Given the description of an element on the screen output the (x, y) to click on. 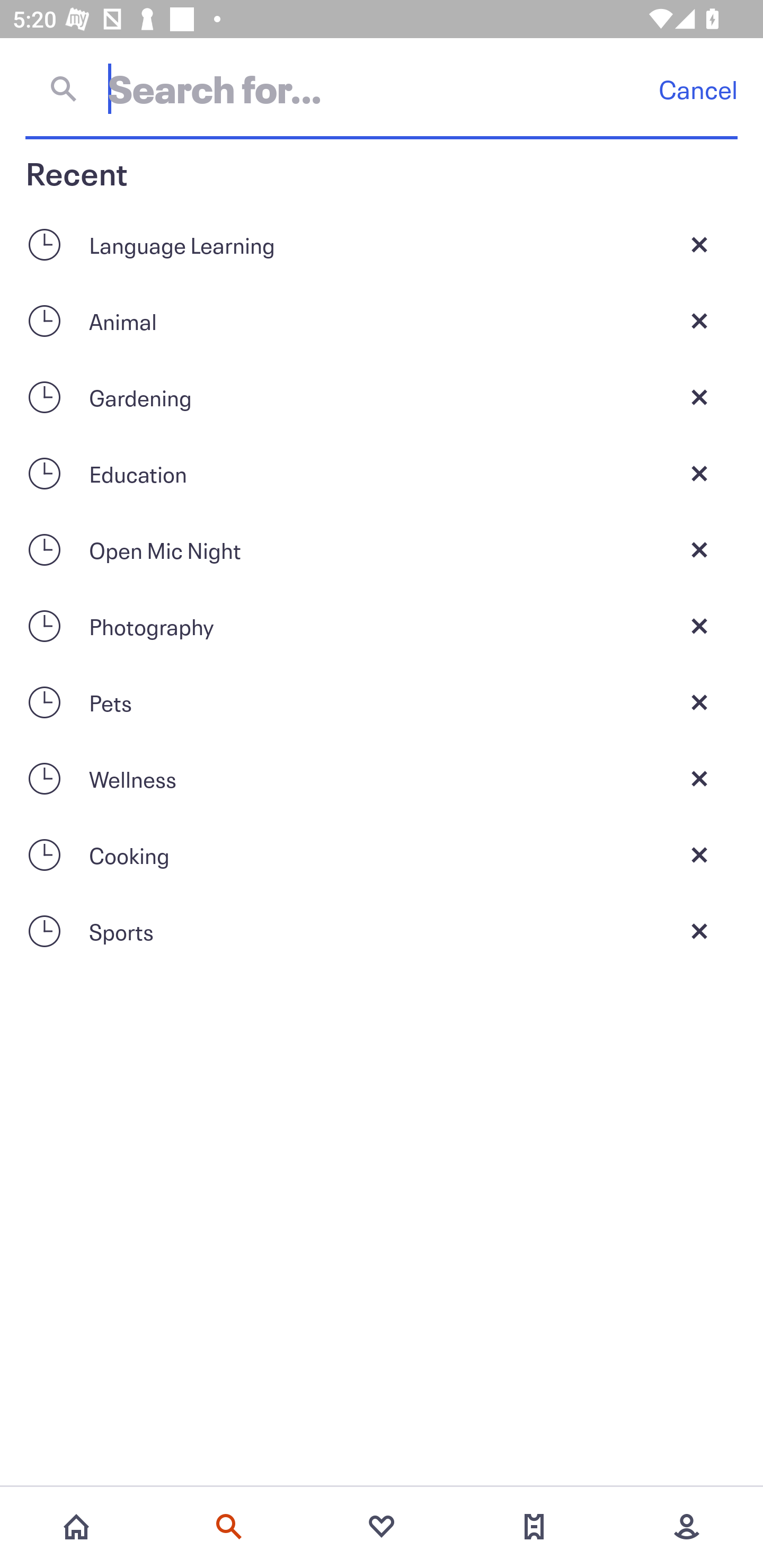
Cancel Search for… (381, 88)
Cancel (697, 89)
Language Learning Close current screen (381, 244)
Close current screen (699, 244)
Animal Close current screen (381, 320)
Close current screen (699, 320)
Gardening Close current screen (381, 397)
Close current screen (699, 397)
Education Close current screen (381, 473)
Close current screen (699, 473)
Open Mic Night Close current screen (381, 549)
Close current screen (699, 549)
Photography Close current screen (381, 626)
Close current screen (699, 626)
Pets Close current screen (381, 702)
Close current screen (699, 702)
Wellness Close current screen (381, 778)
Close current screen (699, 778)
Cooking Close current screen (381, 854)
Close current screen (699, 854)
Sports Close current screen (381, 931)
Close current screen (699, 931)
Home (76, 1526)
Search events (228, 1526)
Favorites (381, 1526)
Tickets (533, 1526)
More (686, 1526)
